Given the description of an element on the screen output the (x, y) to click on. 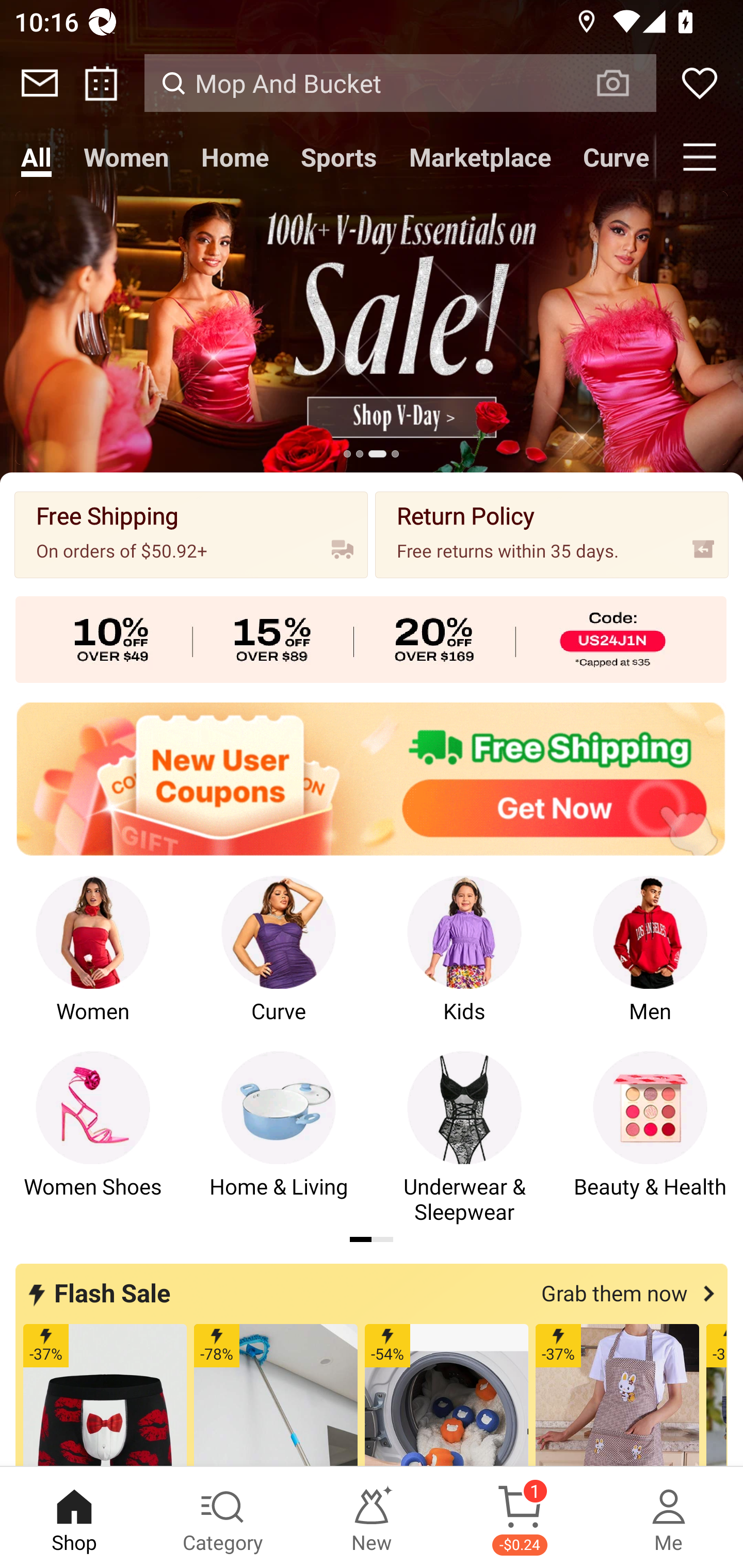
Wishlist (699, 82)
VISUAL SEARCH (623, 82)
All (36, 156)
Women (126, 156)
Home (234, 156)
Sports (338, 156)
Marketplace (479, 156)
Curve (611, 156)
Free Shipping On orders of $50.92+ (190, 534)
Return Policy Free returns within 35 days. (551, 534)
Women (92, 962)
Curve (278, 962)
Kids (464, 962)
Men (650, 962)
Women Shoes (92, 1138)
Home & Living (278, 1138)
Underwear & Sleepwear (464, 1138)
Beauty & Health (650, 1138)
Category (222, 1517)
New (371, 1517)
Cart 1 -$0.24 (519, 1517)
Me (668, 1517)
